Given the description of an element on the screen output the (x, y) to click on. 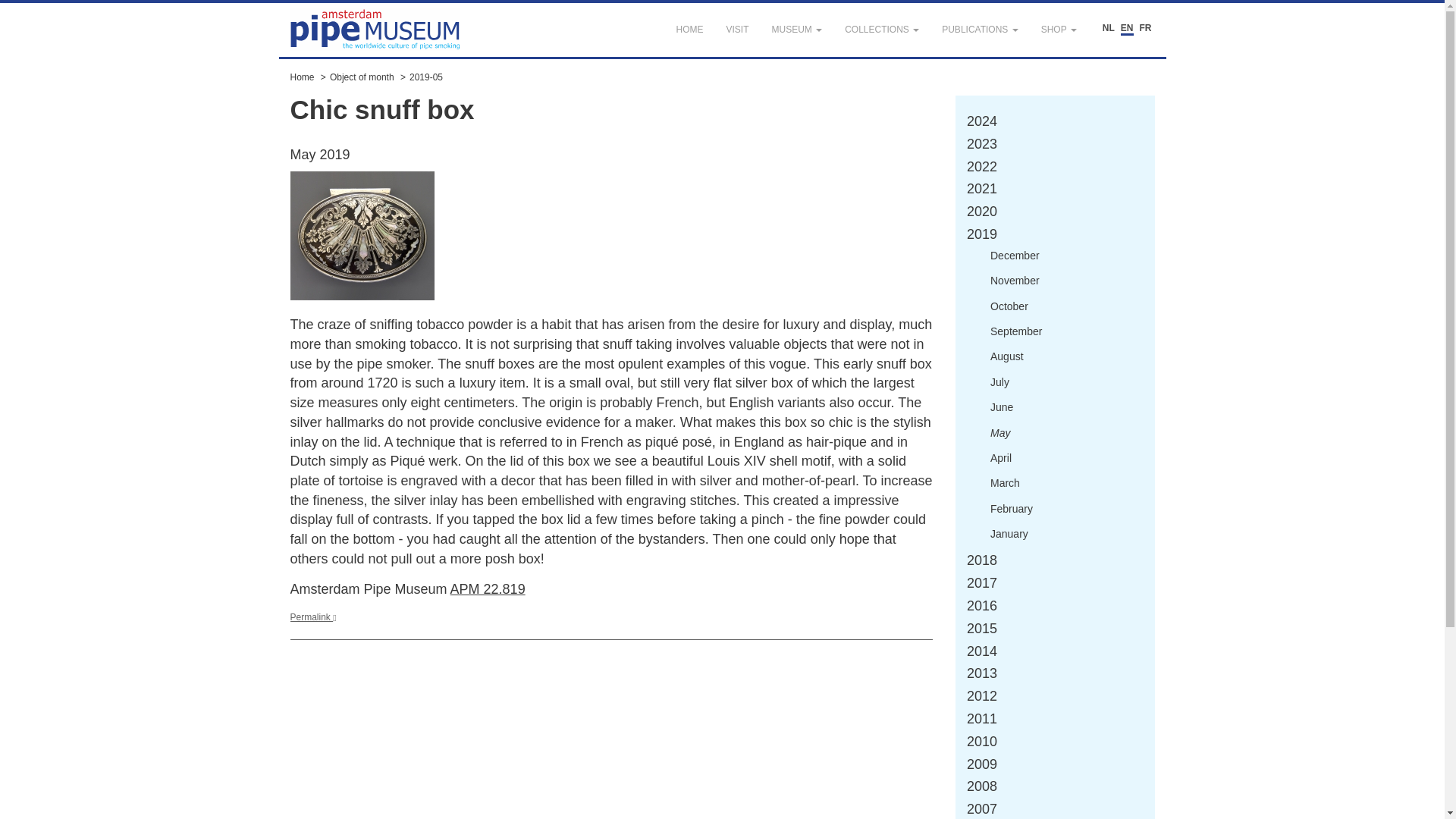
FR (1144, 29)
HOME (688, 29)
EN (1127, 29)
EN (1127, 29)
2024 (981, 120)
Permalink (312, 616)
SHOP (1058, 29)
MUSEUM (796, 29)
PUBLICATIONS (979, 29)
FR (1144, 29)
COLLECTIONS (881, 29)
NL (1108, 29)
NL (1108, 29)
2019-05 (425, 77)
APM 22.819 (487, 589)
